Given the description of an element on the screen output the (x, y) to click on. 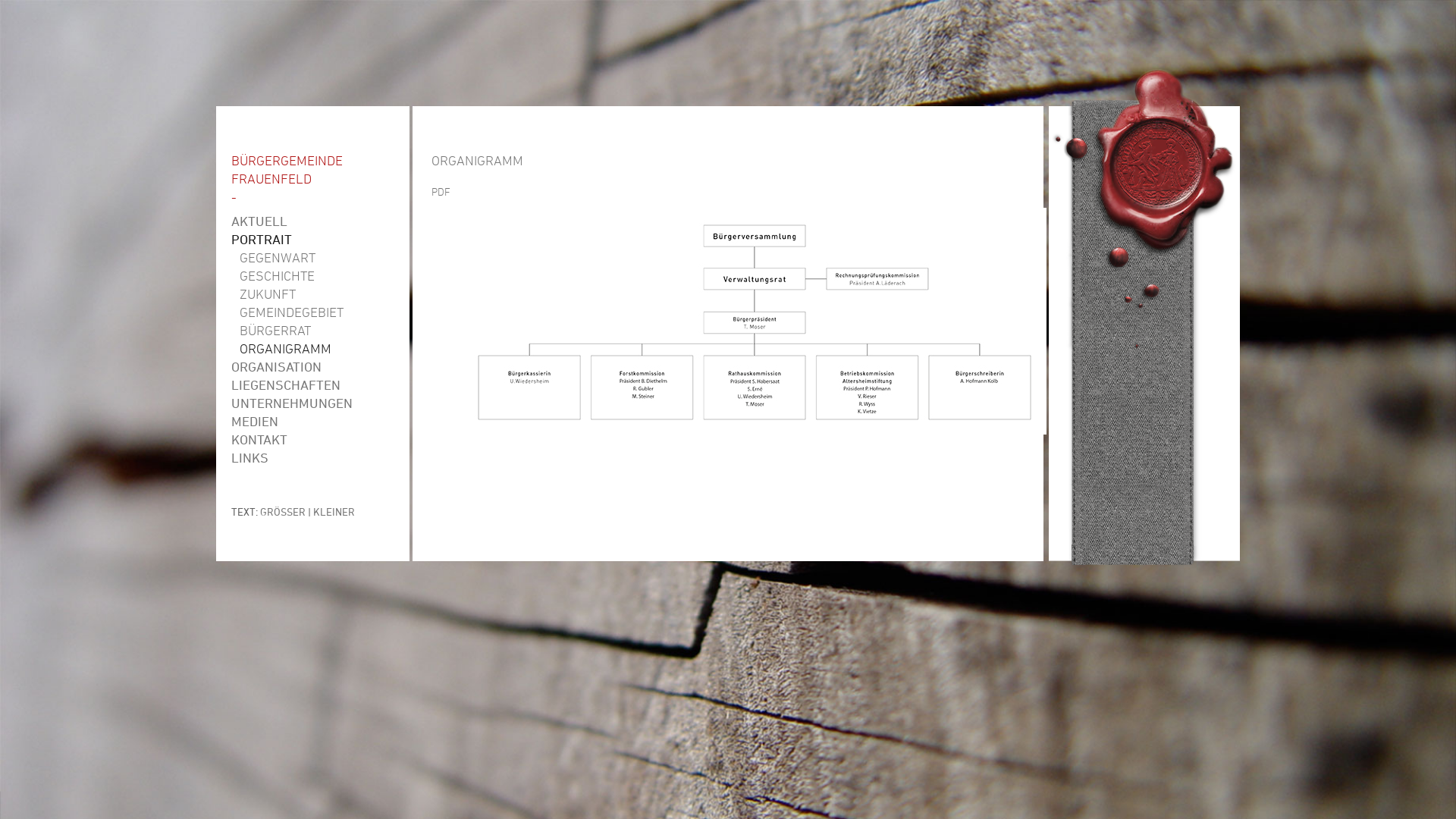
PORTRAIT Element type: text (312, 239)
ORGANIGRAMM Element type: text (312, 348)
GEGENWART Element type: text (312, 257)
GEMEINDEGEBIET Element type: text (312, 312)
ORGANISATION Element type: text (312, 366)
UNTERNEHMUNGEN Element type: text (312, 403)
AKTUELL Element type: text (312, 221)
ZUKUNFT Element type: text (312, 294)
PDF Element type: text (440, 191)
KONTAKT Element type: text (312, 439)
MEDIEN Element type: text (312, 421)
KLEINER Element type: text (333, 511)
LIEGENSCHAFTEN Element type: text (312, 385)
LINKS Element type: text (312, 457)
GESCHICHTE Element type: text (312, 275)
